Given the description of an element on the screen output the (x, y) to click on. 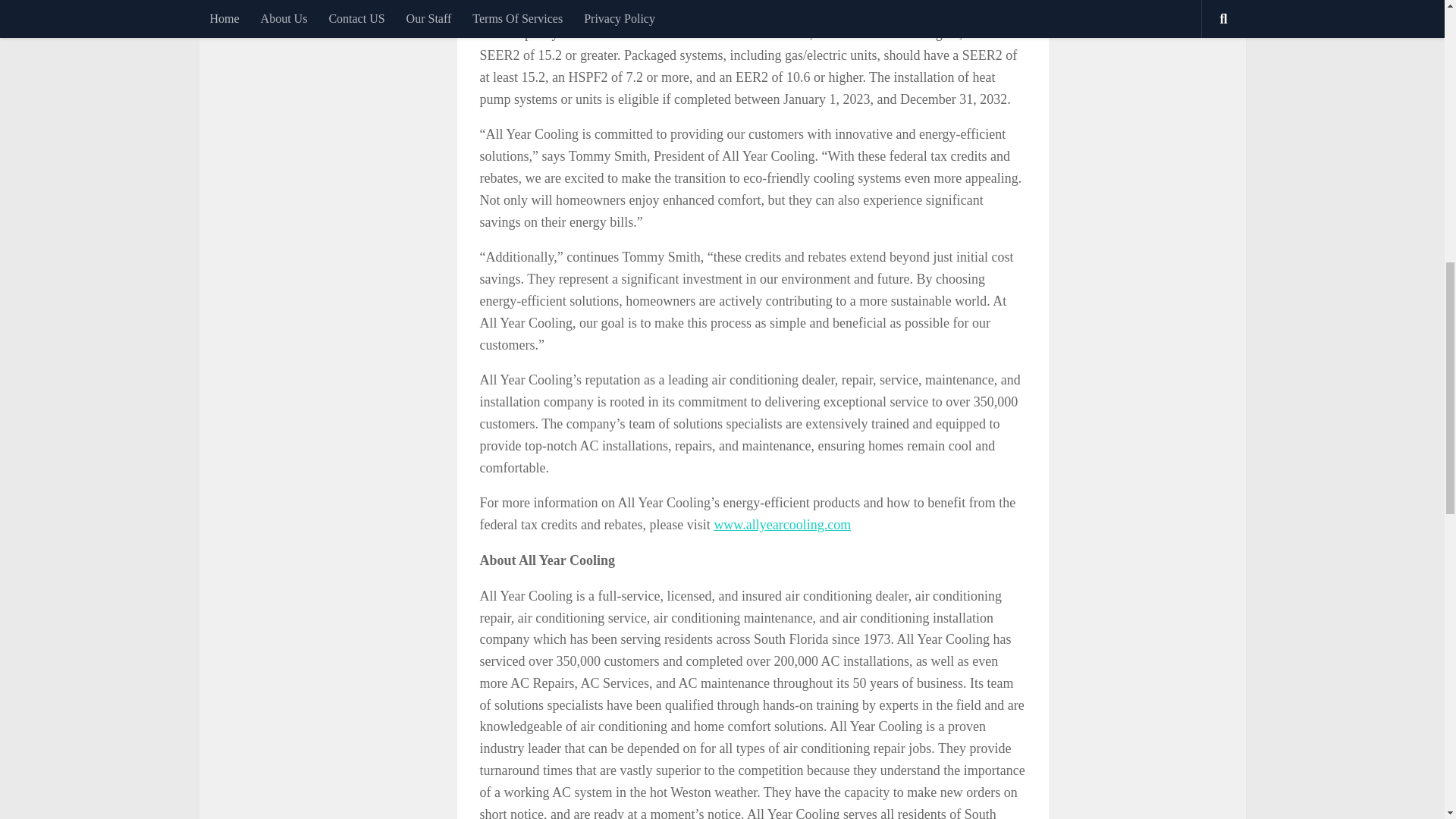
www.allyearcooling.com (781, 524)
